Given the description of an element on the screen output the (x, y) to click on. 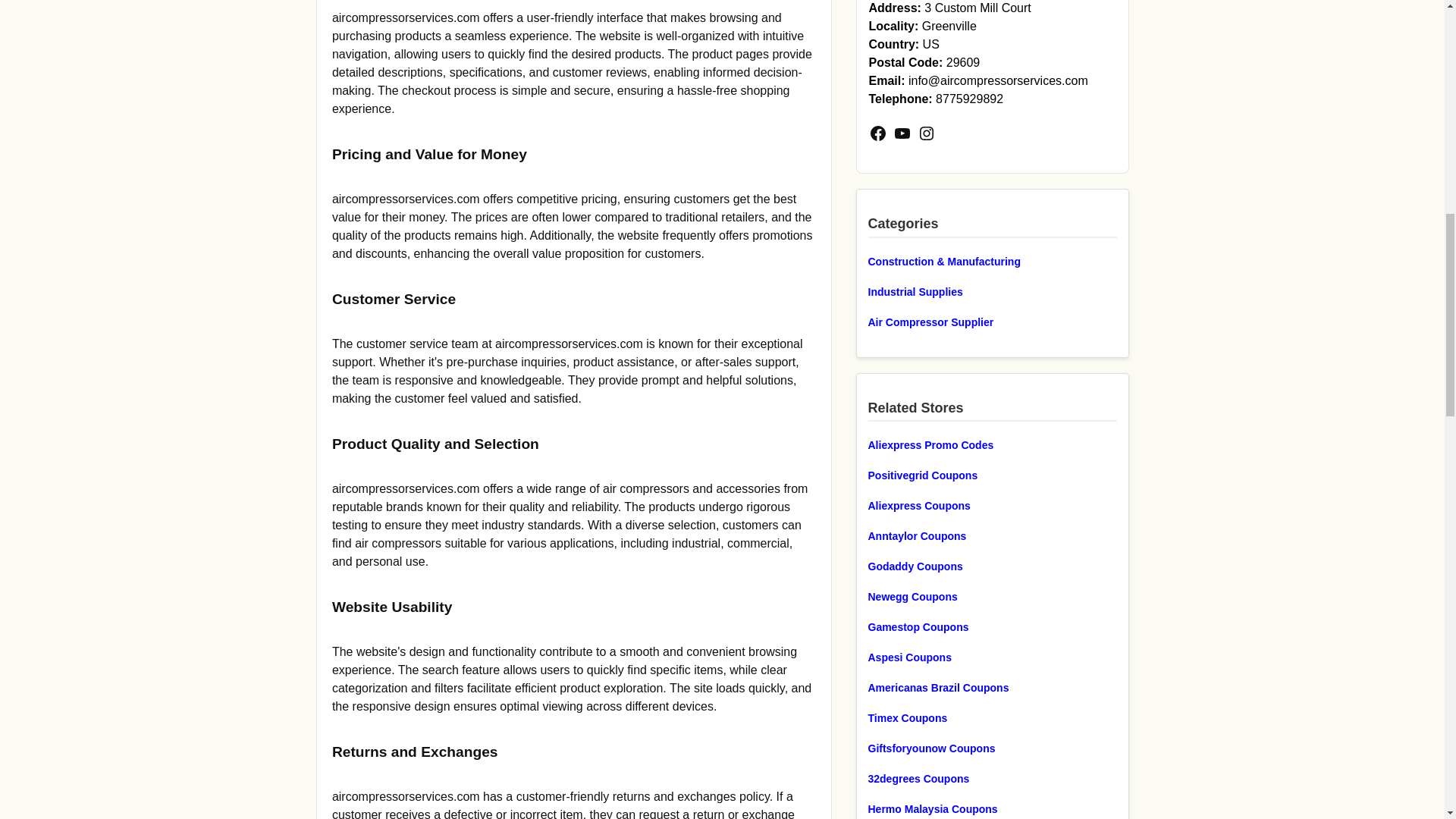
Facebook Page (877, 133)
Godaddy Coupons (991, 566)
Industrial Supplies (991, 291)
Anntaylor Coupons (991, 535)
YouTube (902, 133)
Instagram (926, 133)
Positivegrid Coupons (991, 475)
Aliexpress Promo Codes (991, 445)
Aliexpress Coupons (991, 505)
Air Compressor Supplier (991, 322)
